Given the description of an element on the screen output the (x, y) to click on. 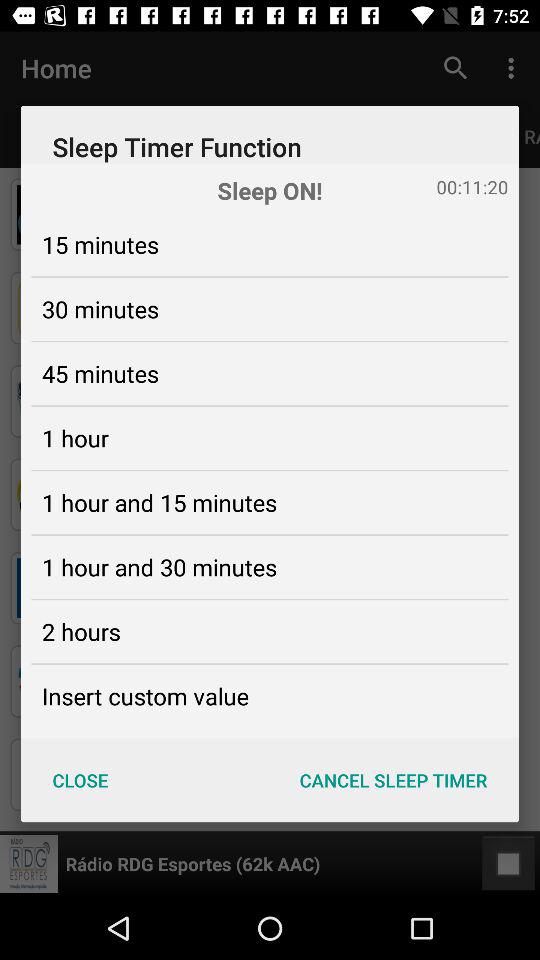
choose item above the insert custom value icon (81, 631)
